Given the description of an element on the screen output the (x, y) to click on. 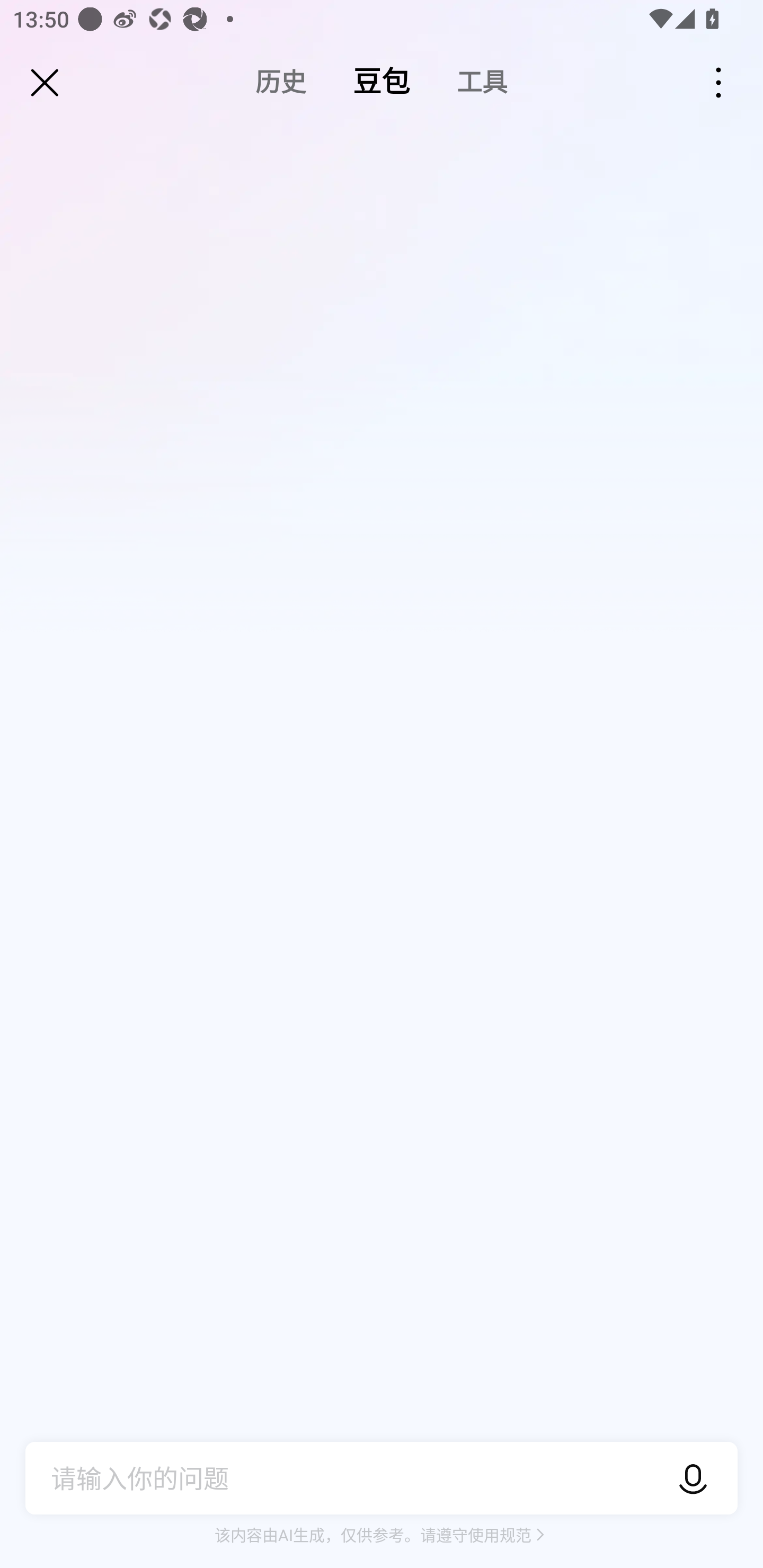
历史 (280, 82)
豆包 (381, 82)
工具 (481, 82)
请输入你的问题 (349, 1478)
该内容由AI生成，仅供参考。请遵守使用规范 (381, 1535)
